Given the description of an element on the screen output the (x, y) to click on. 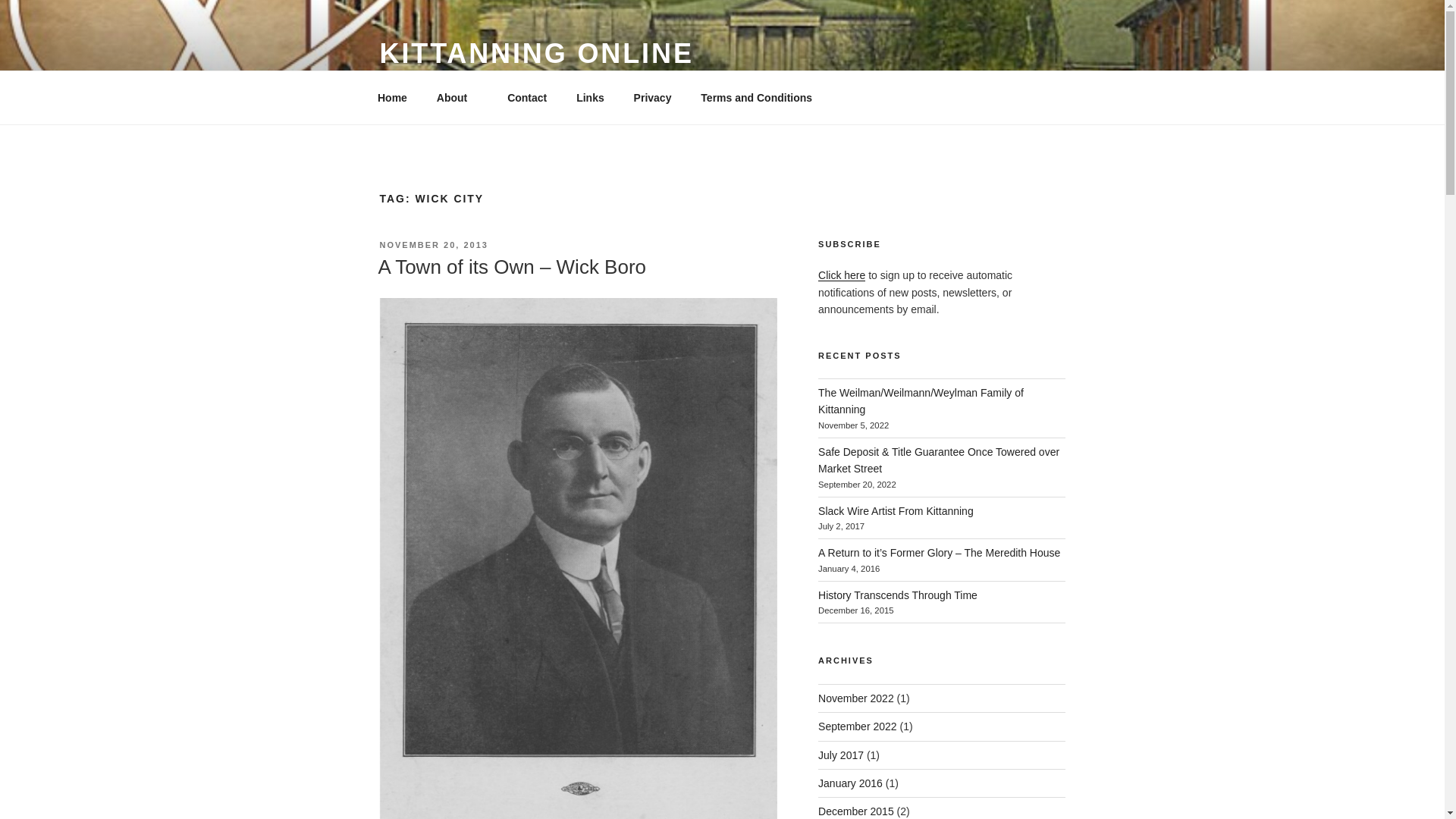
Slack Wire Artist From Kittanning (896, 510)
KITTANNING ONLINE (535, 52)
January 2016 (850, 783)
July 2017 (840, 755)
Privacy (652, 97)
Click here (841, 275)
About (456, 97)
Terms and Conditions (756, 97)
September 2022 (857, 726)
Contact (527, 97)
